Given the description of an element on the screen output the (x, y) to click on. 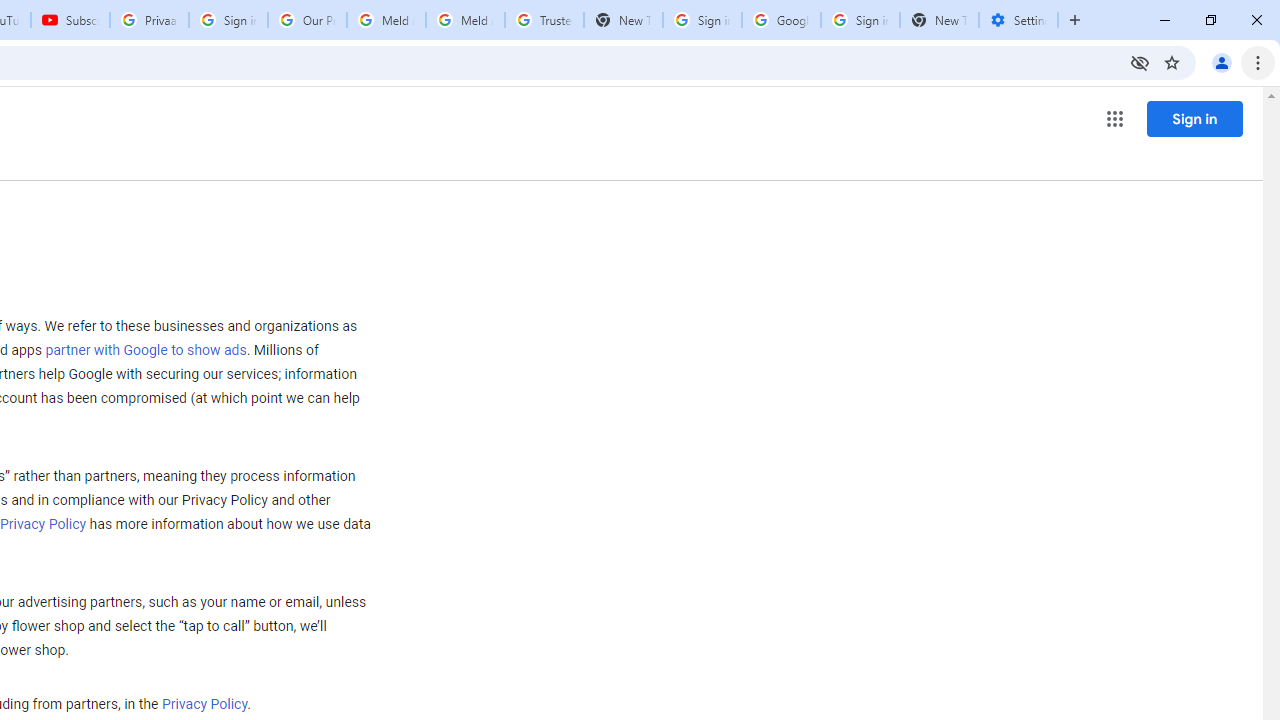
partner with Google to show ads (145, 351)
Google Cybersecurity Innovations - Google Safety Center (781, 20)
Sign in - Google Accounts (702, 20)
Sign in - Google Accounts (859, 20)
Settings - Addresses and more (1018, 20)
New Tab (939, 20)
